Given the description of an element on the screen output the (x, y) to click on. 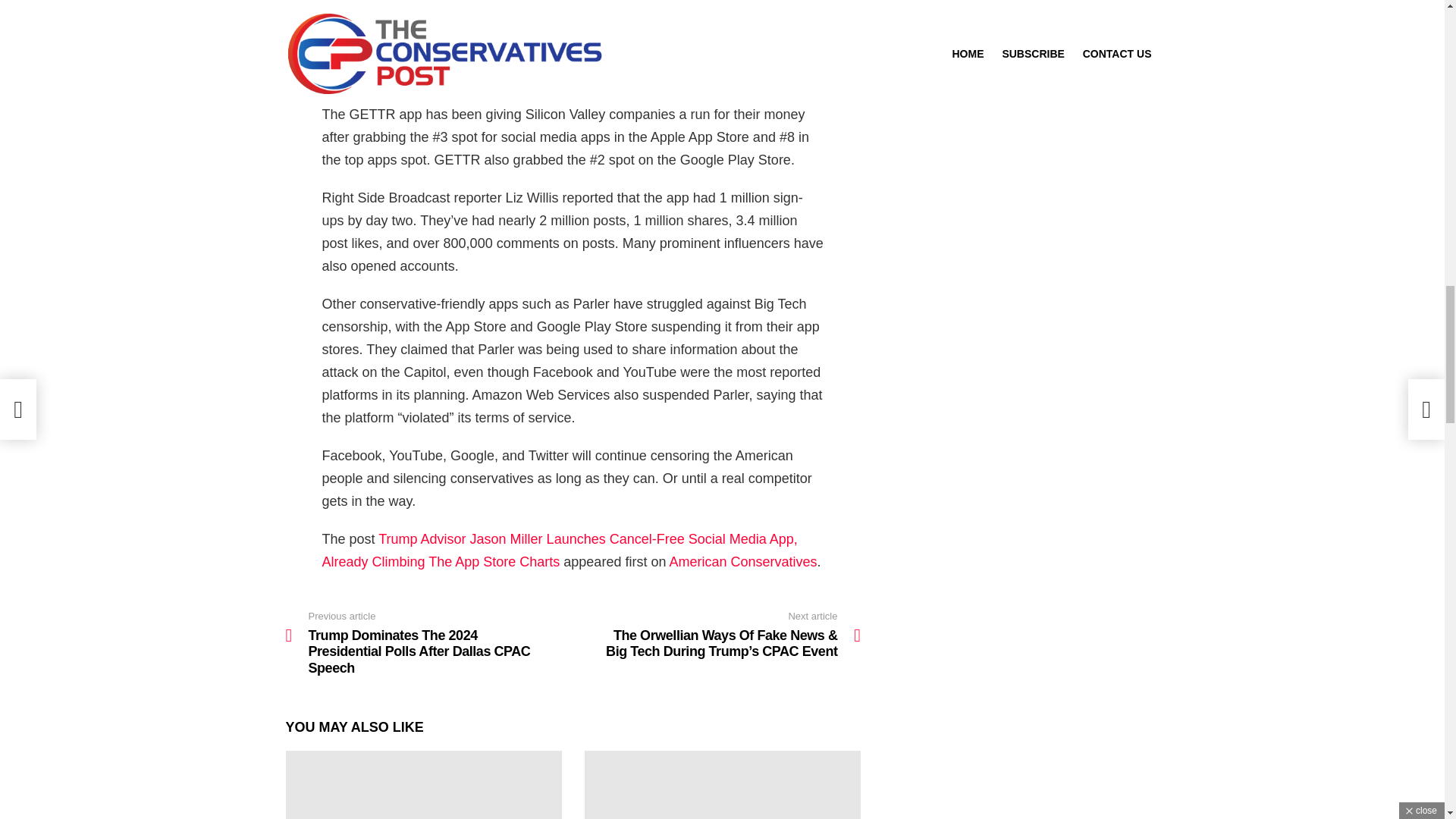
American Conservatives (742, 561)
